Given the description of an element on the screen output the (x, y) to click on. 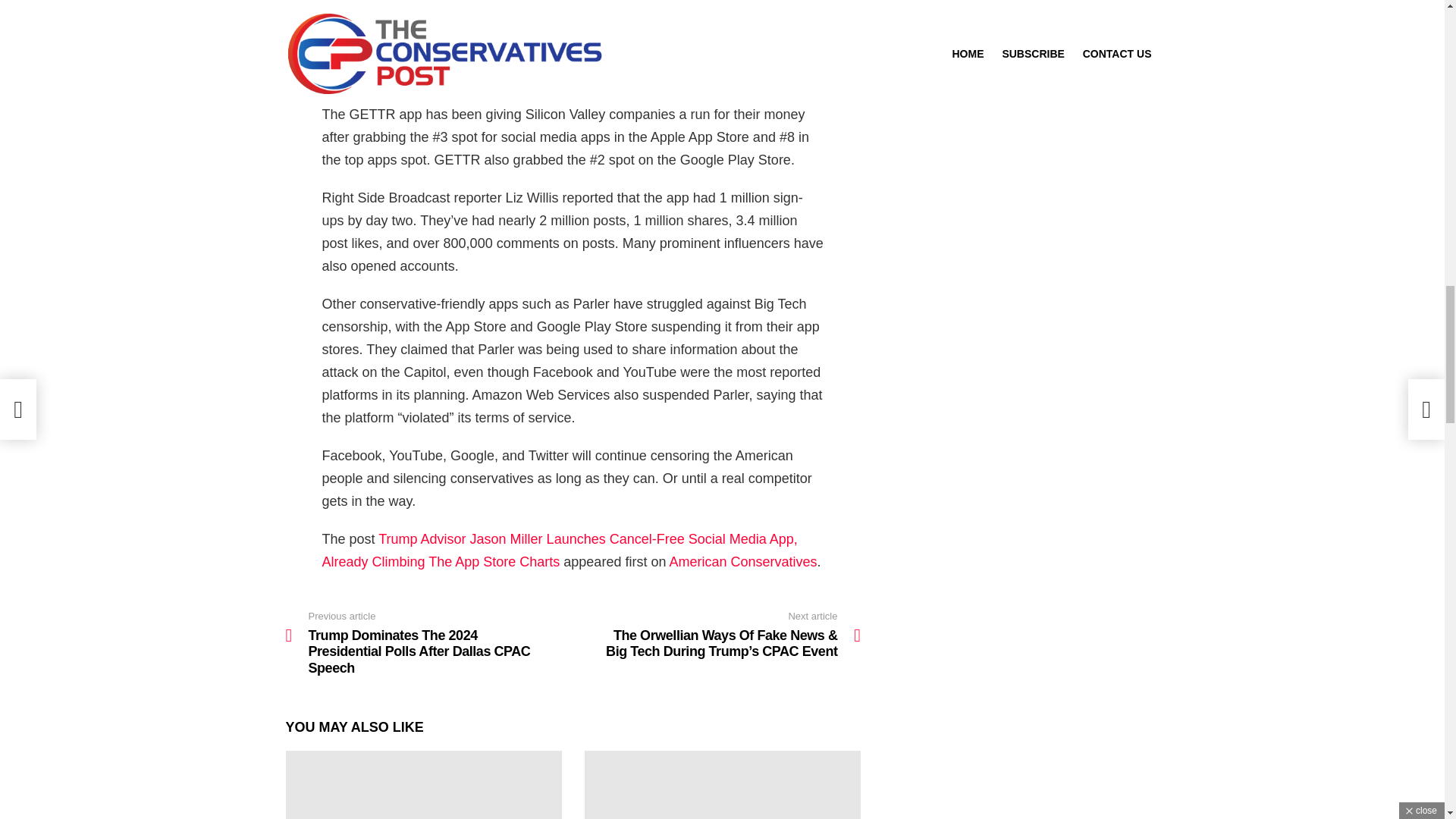
American Conservatives (742, 561)
